Given the description of an element on the screen output the (x, y) to click on. 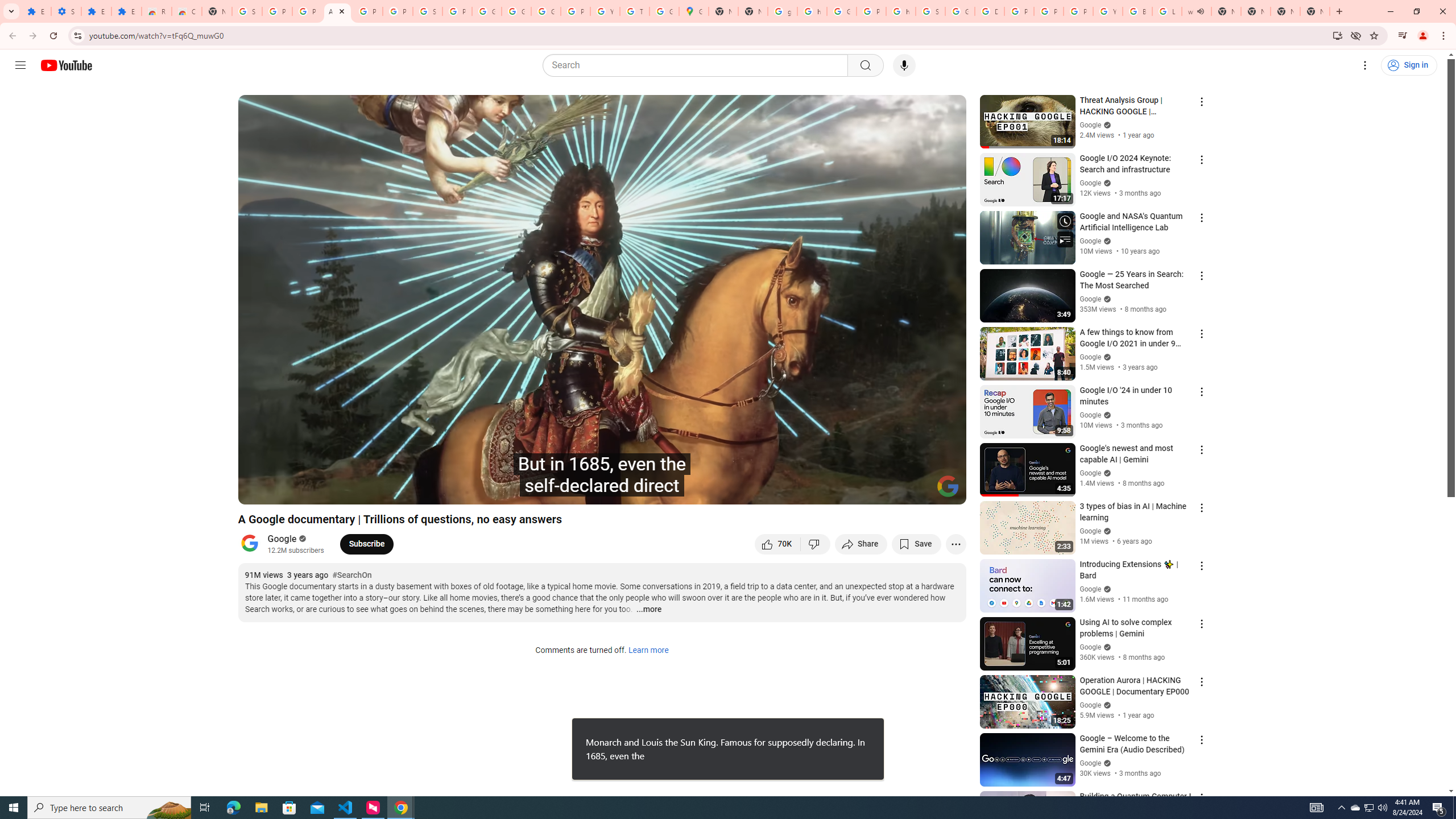
Browse Chrome as a guest - Computer - Google Chrome Help (1137, 11)
Sign in - Google Accounts (247, 11)
YouTube Home (66, 65)
Learn more (647, 650)
Sign in (1408, 64)
Extensions (126, 11)
New Tab (1314, 11)
https://scholar.google.com/ (900, 11)
More actions (955, 543)
Reviews: Helix Fruit Jump Arcade Game (156, 11)
Action menu (1200, 798)
